Given the description of an element on the screen output the (x, y) to click on. 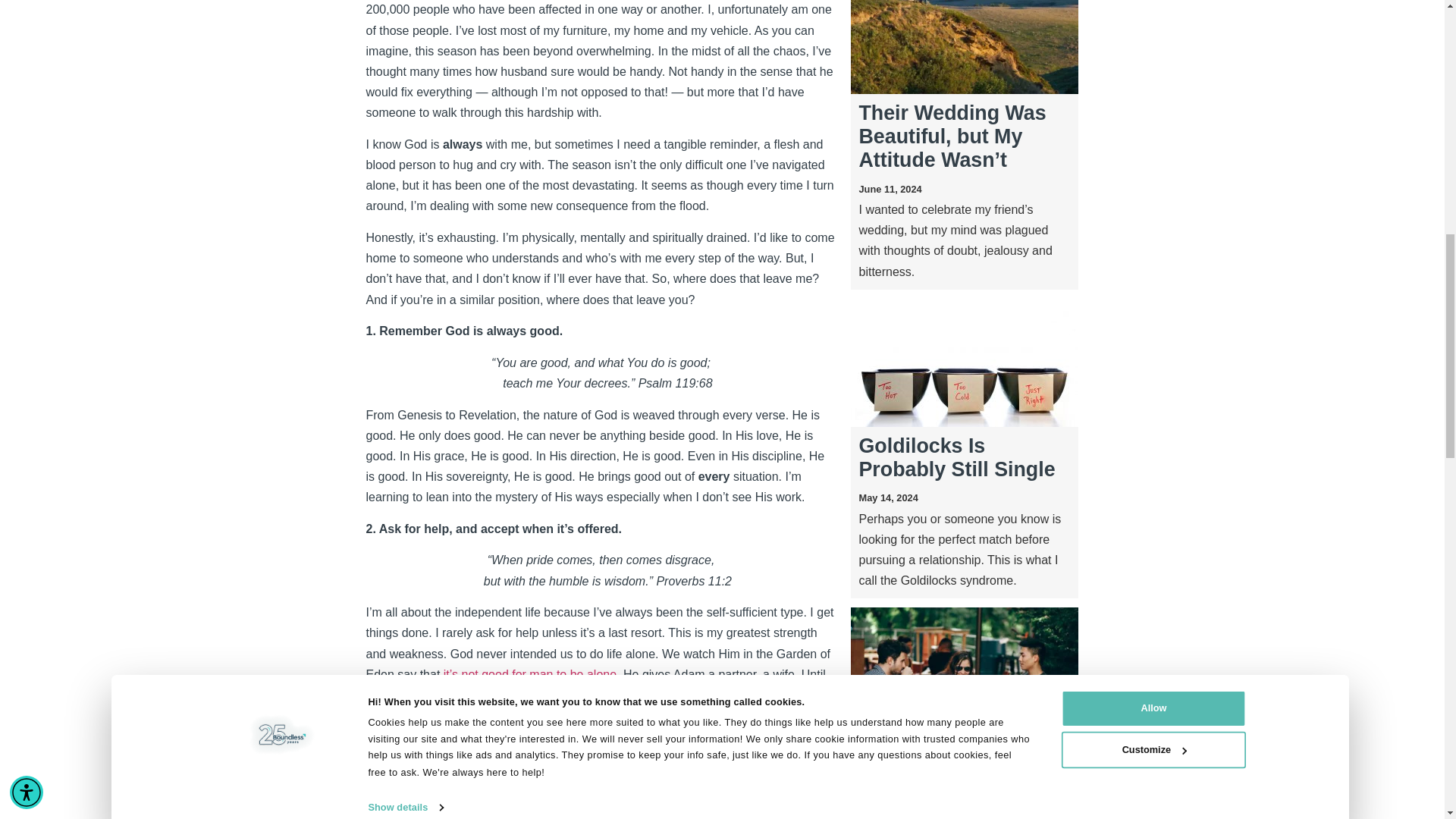
Show details (412, 0)
